Given the description of an element on the screen output the (x, y) to click on. 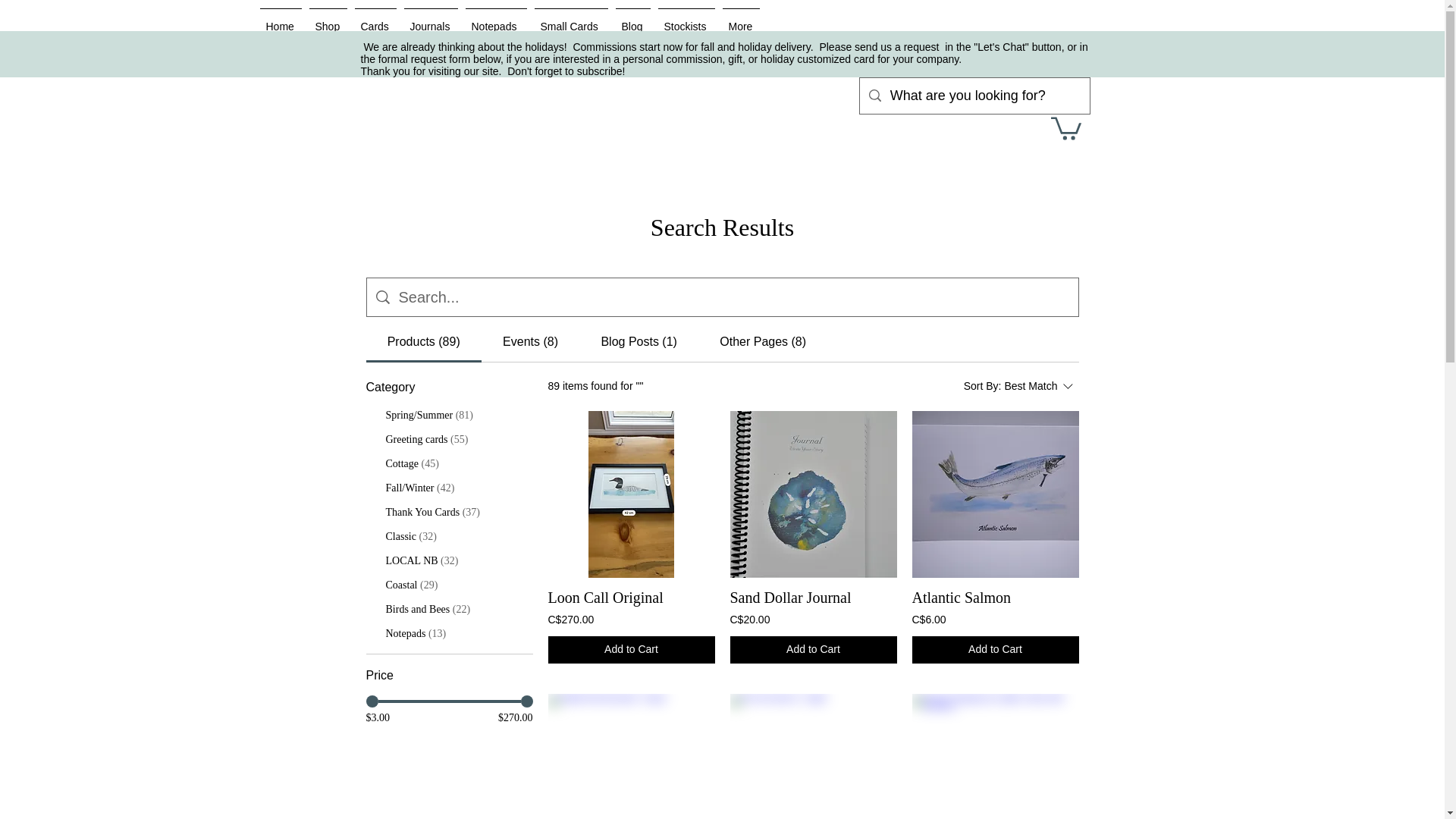
Notepads (495, 19)
Loon Call Original  (630, 494)
From the desk of...  Apple (812, 756)
Atlantic Salmon (960, 597)
Sand Dollar Journal (789, 597)
Stockists (685, 19)
Journals (430, 19)
Add to Cart (812, 649)
Loon Call Original  (604, 597)
Atlantic Salmon (994, 494)
Blog (632, 19)
Atlantic Salmon (960, 597)
